Given the description of an element on the screen output the (x, y) to click on. 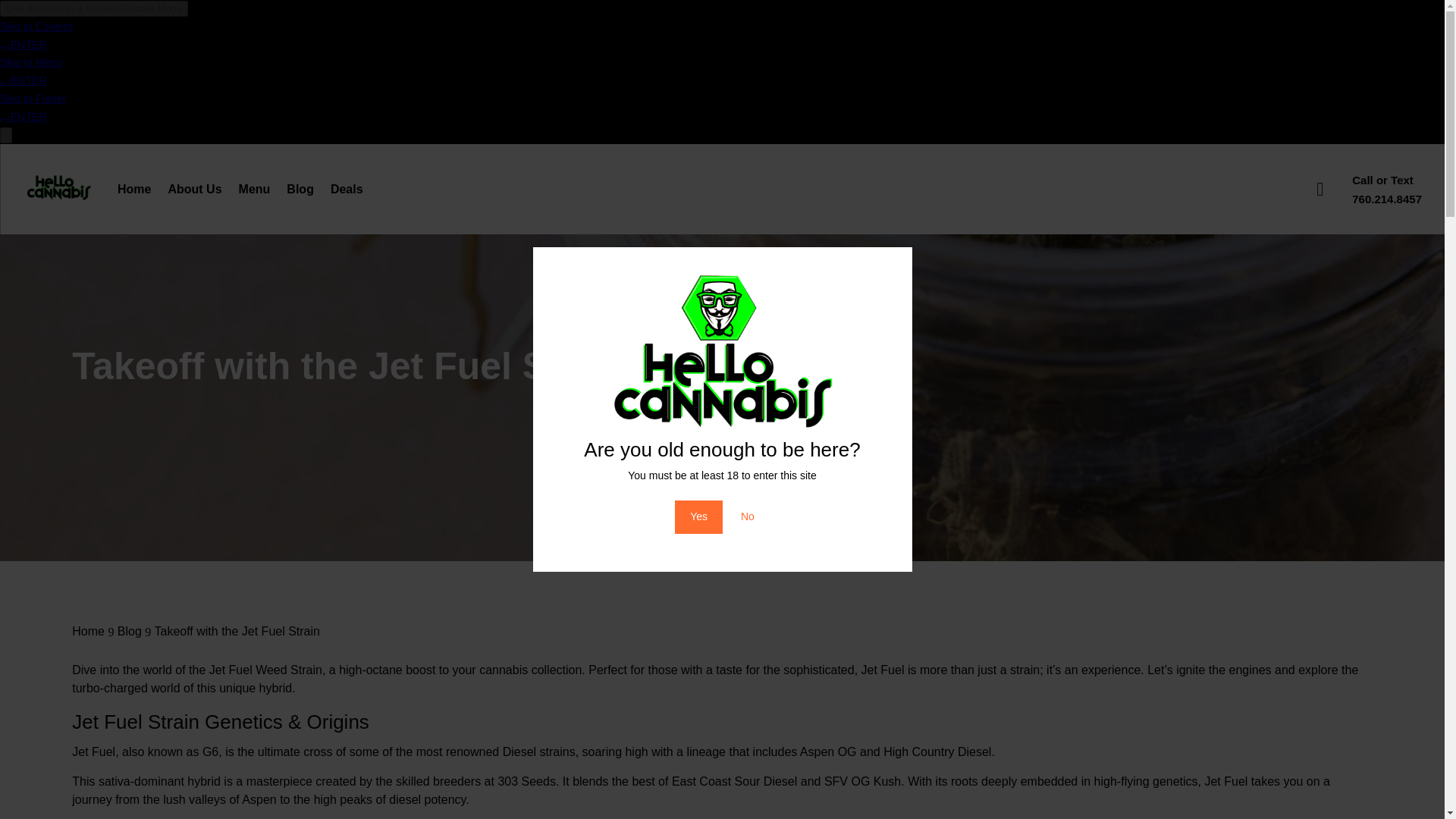
Home (87, 631)
No (747, 516)
760.214.8457 (1387, 198)
Blog (129, 631)
Yes (698, 516)
